Given the description of an element on the screen output the (x, y) to click on. 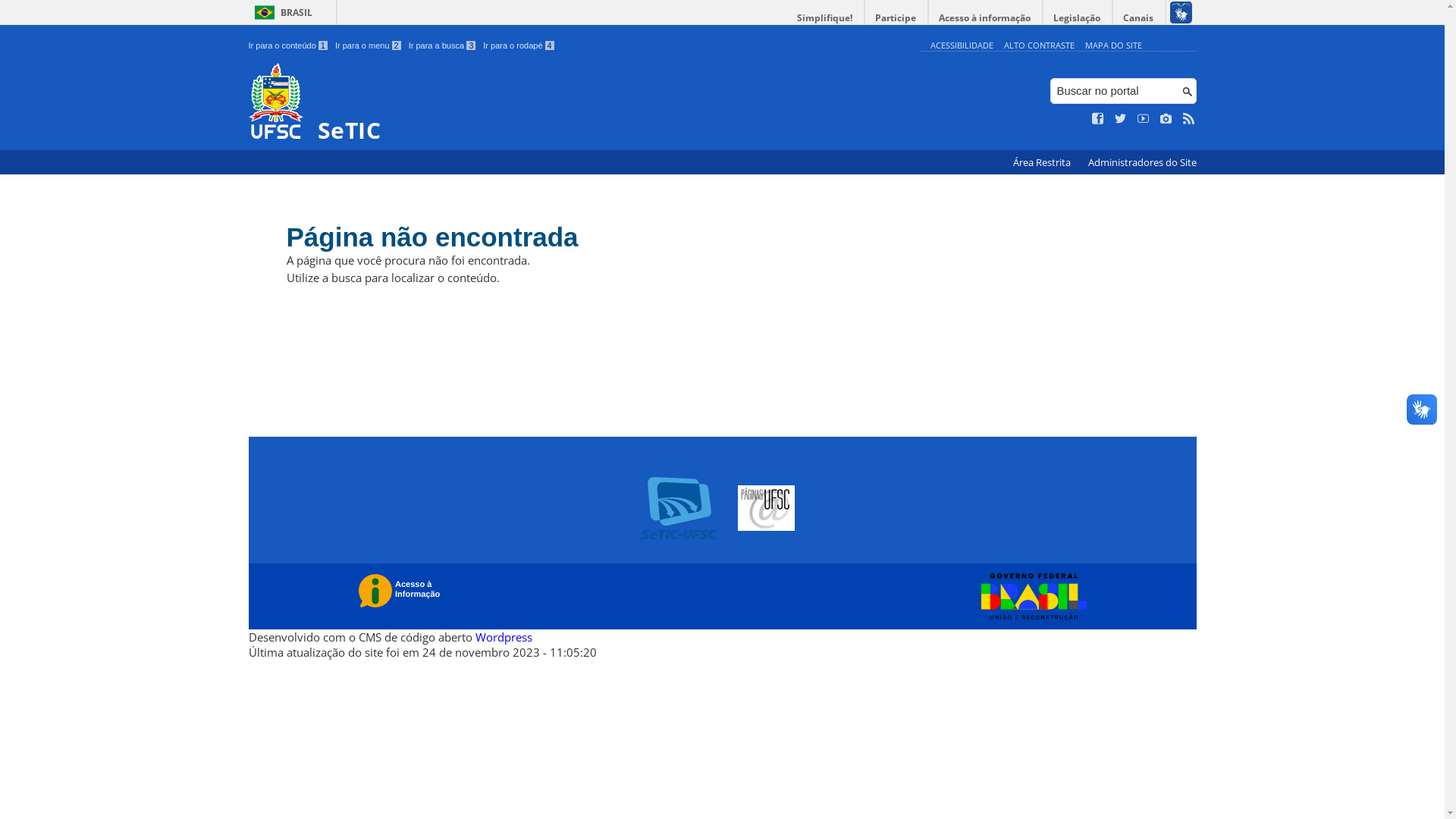
Participe Element type: text (895, 18)
ACESSIBILIDADE Element type: text (960, 44)
SeTIC Element type: text (580, 102)
Siga no Twitter Element type: hover (1120, 118)
BRASIL Element type: text (280, 12)
MAPA DO SITE Element type: text (1112, 44)
Veja no Instagram Element type: hover (1166, 118)
Ir para o menu 2 Element type: text (368, 45)
Curta no Facebook Element type: hover (1098, 118)
Wordpress Element type: text (502, 636)
Administradores do Site Element type: text (1141, 162)
Canais Element type: text (1138, 18)
Governo Federal Element type: hover (1029, 596)
Ir para a busca 3 Element type: text (442, 45)
Simplifique! Element type: text (825, 18)
ALTO CONTRASTE Element type: text (1039, 44)
